Given the description of an element on the screen output the (x, y) to click on. 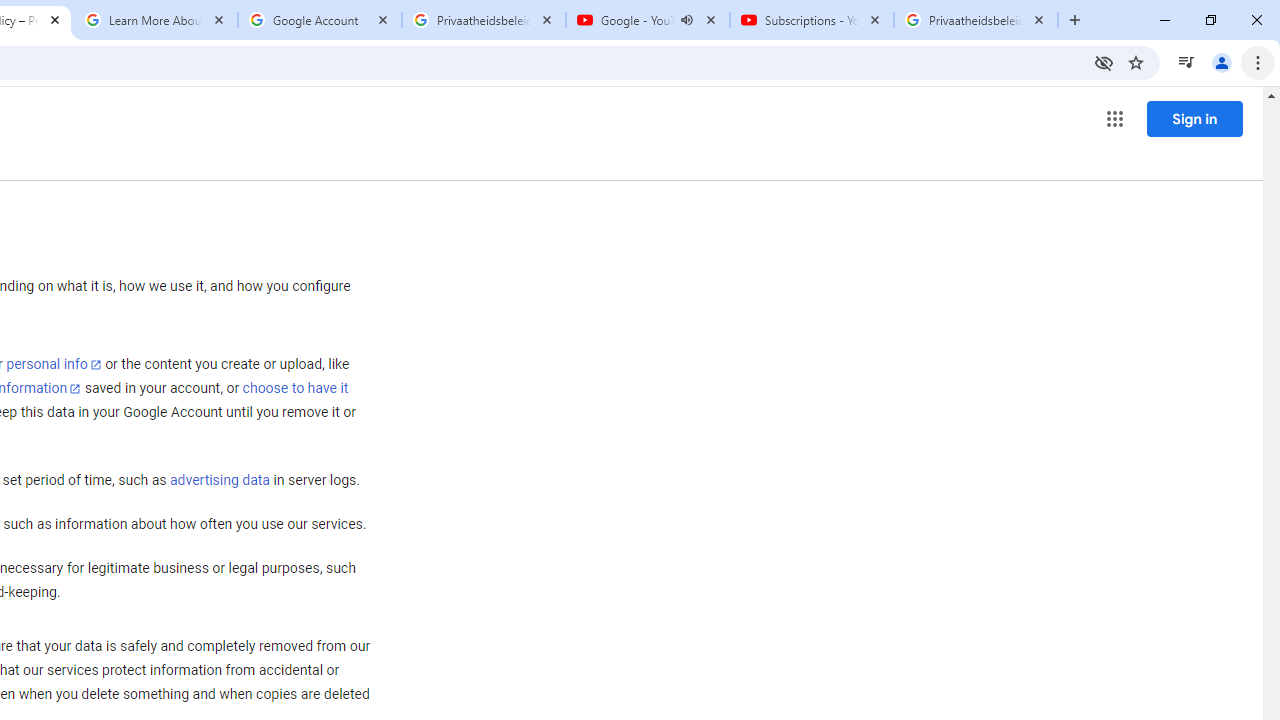
Google - YouTube - Audio playing (647, 20)
advertising data (219, 481)
Subscriptions - YouTube (811, 20)
Google Account (319, 20)
personal info (54, 364)
